Given the description of an element on the screen output the (x, y) to click on. 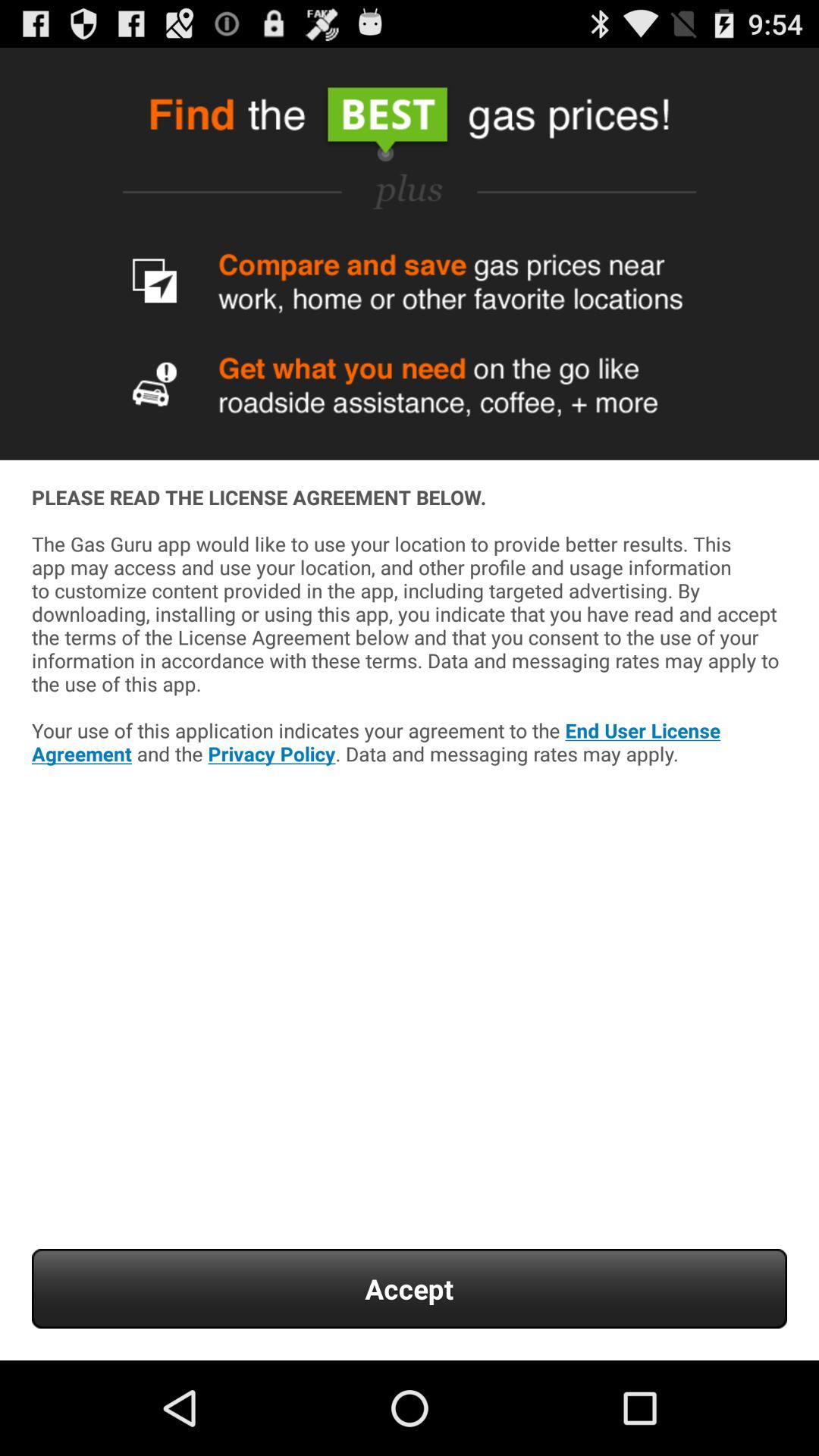
turn off the accept at the bottom (409, 1288)
